Given the description of an element on the screen output the (x, y) to click on. 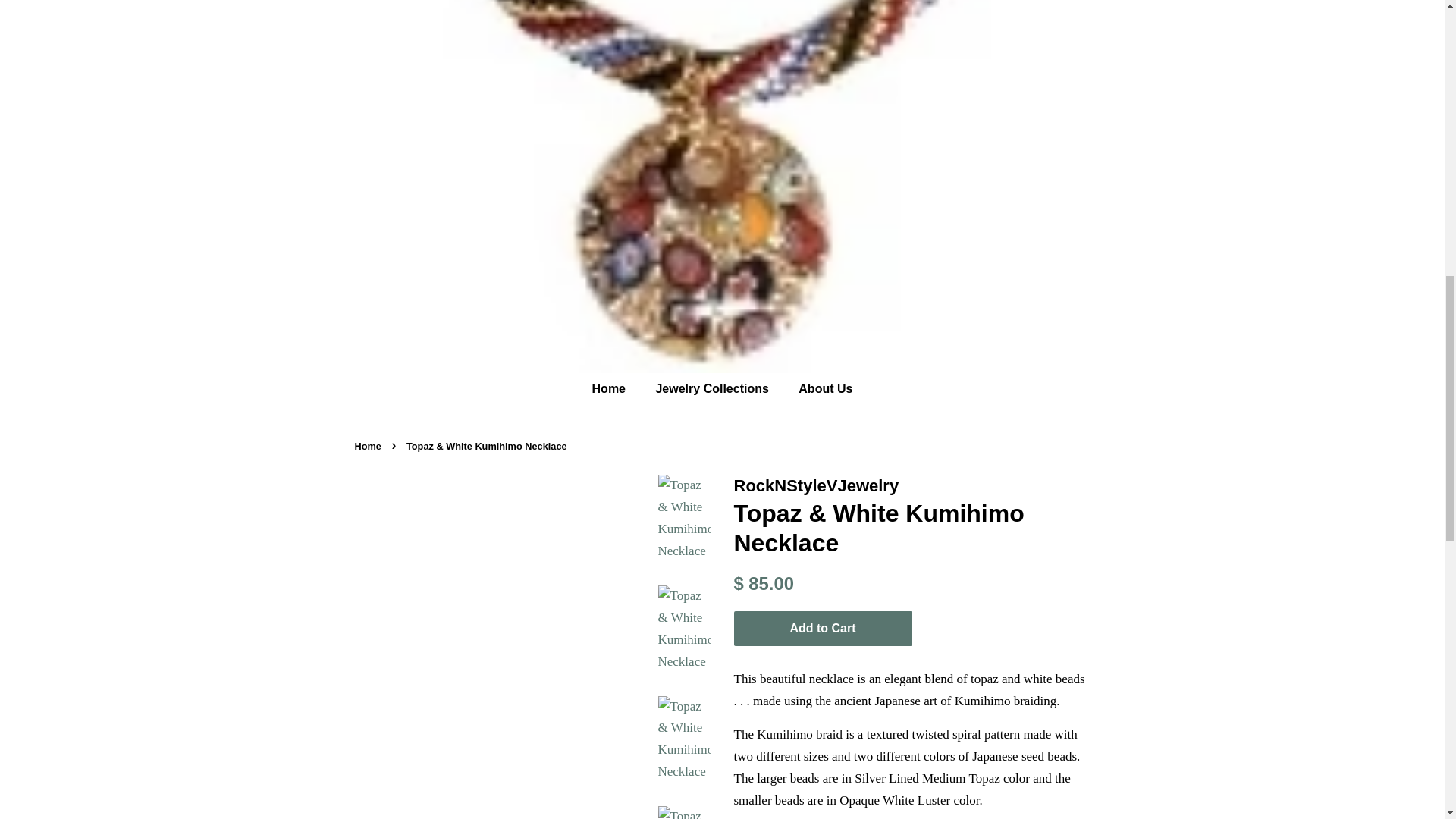
Add to Cart (822, 628)
Home (616, 388)
About Us (819, 388)
Back to the frontpage (370, 446)
Jewelry Collections (713, 388)
Home (370, 446)
